Given the description of an element on the screen output the (x, y) to click on. 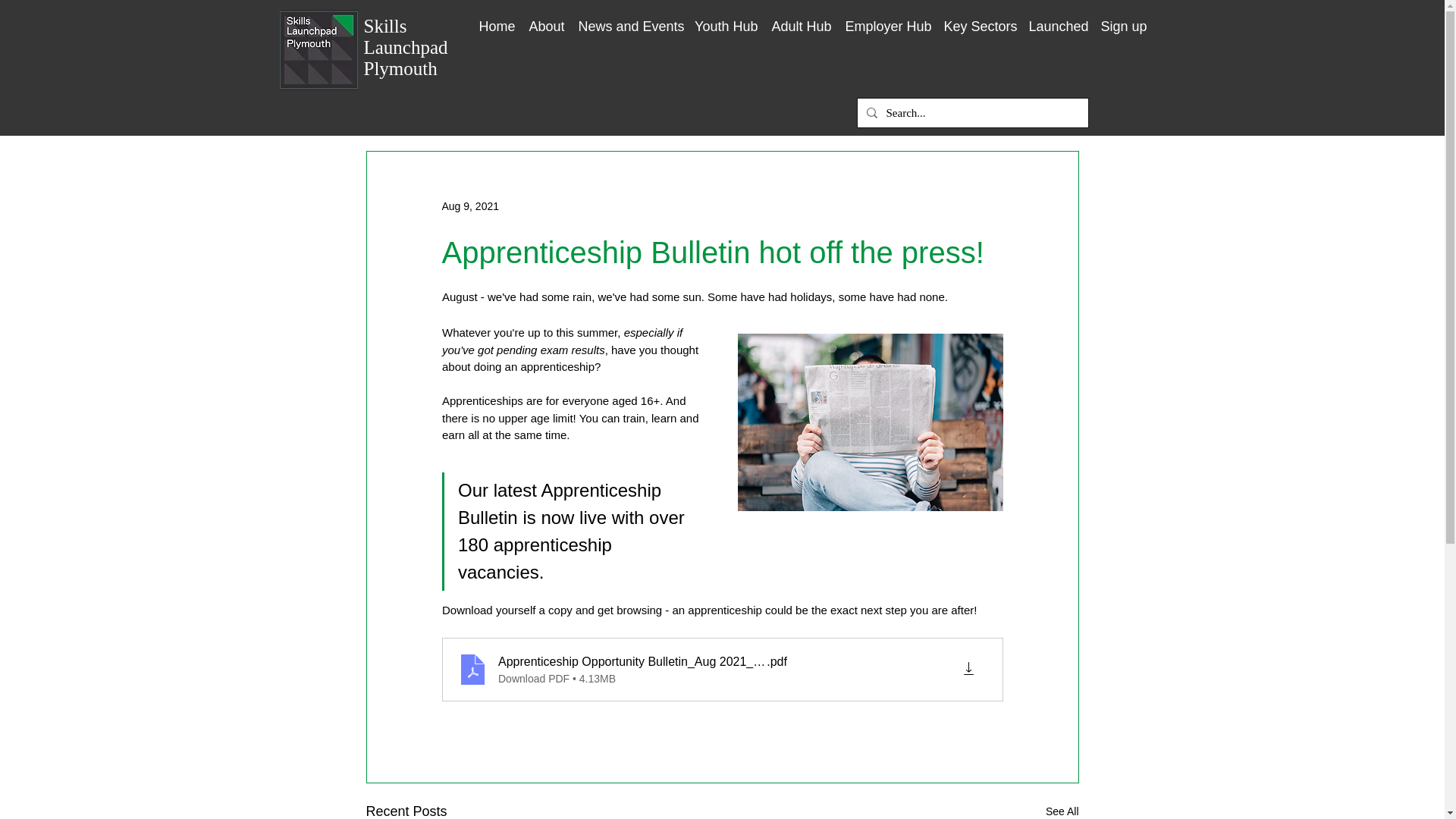
Employer Hub (887, 20)
Youth Hub (725, 20)
Launched (1058, 20)
Aug 9, 2021 (470, 205)
Key Sectors (979, 20)
Adult Hub (801, 20)
About (545, 20)
Sign up (1123, 20)
See All (1061, 809)
News and Events (629, 20)
Home (496, 20)
